Given the description of an element on the screen output the (x, y) to click on. 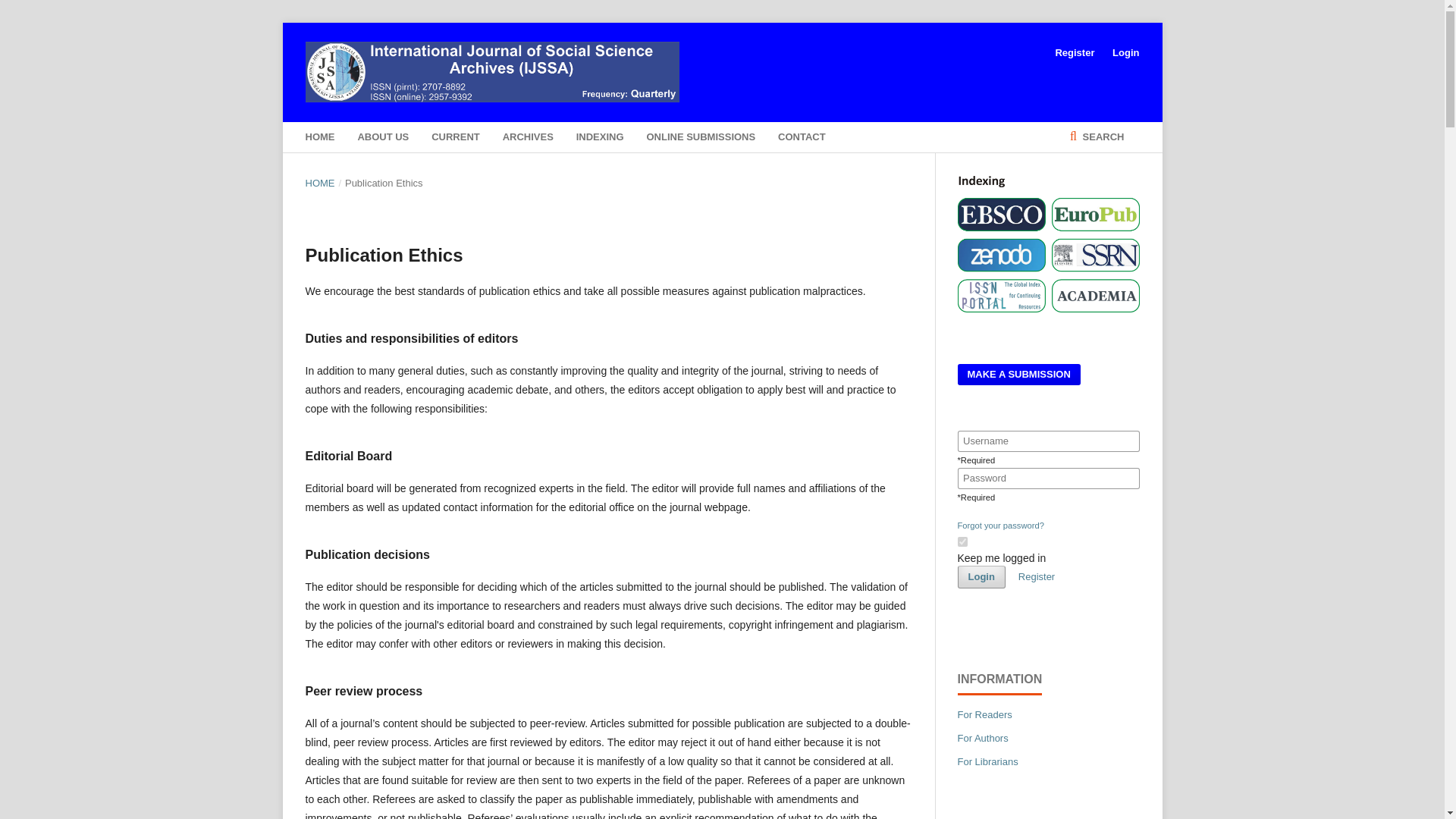
HOME (319, 137)
Login (980, 576)
1 (961, 542)
ABOUT US (382, 137)
Forgot your password? (999, 524)
Register (1035, 576)
CONTACT (801, 137)
CURRENT (455, 137)
ONLINE SUBMISSIONS (700, 137)
For Readers (983, 714)
